Given the description of an element on the screen output the (x, y) to click on. 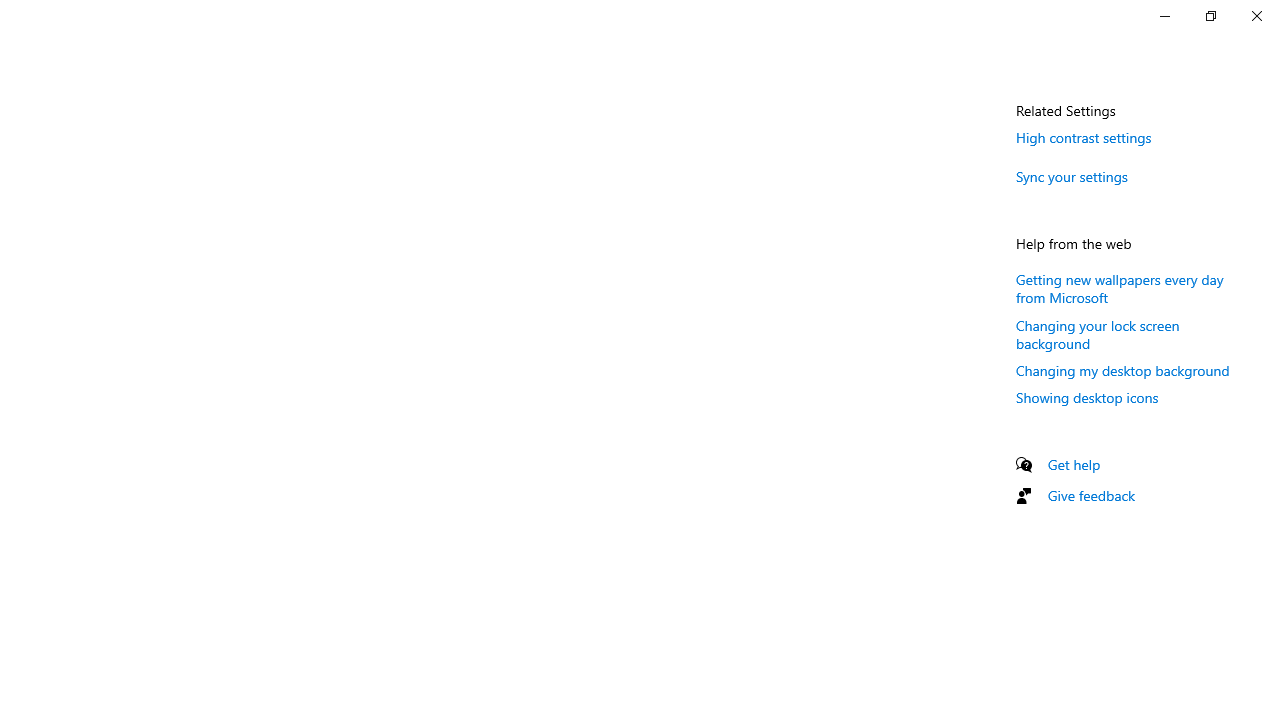
Changing my desktop background (1123, 370)
Changing your lock screen background (1098, 333)
High contrast settings (1084, 137)
Sync your settings (1071, 176)
Give feedback (1091, 495)
Getting new wallpapers every day from Microsoft (1119, 287)
Showing desktop icons (1087, 397)
